Given the description of an element on the screen output the (x, y) to click on. 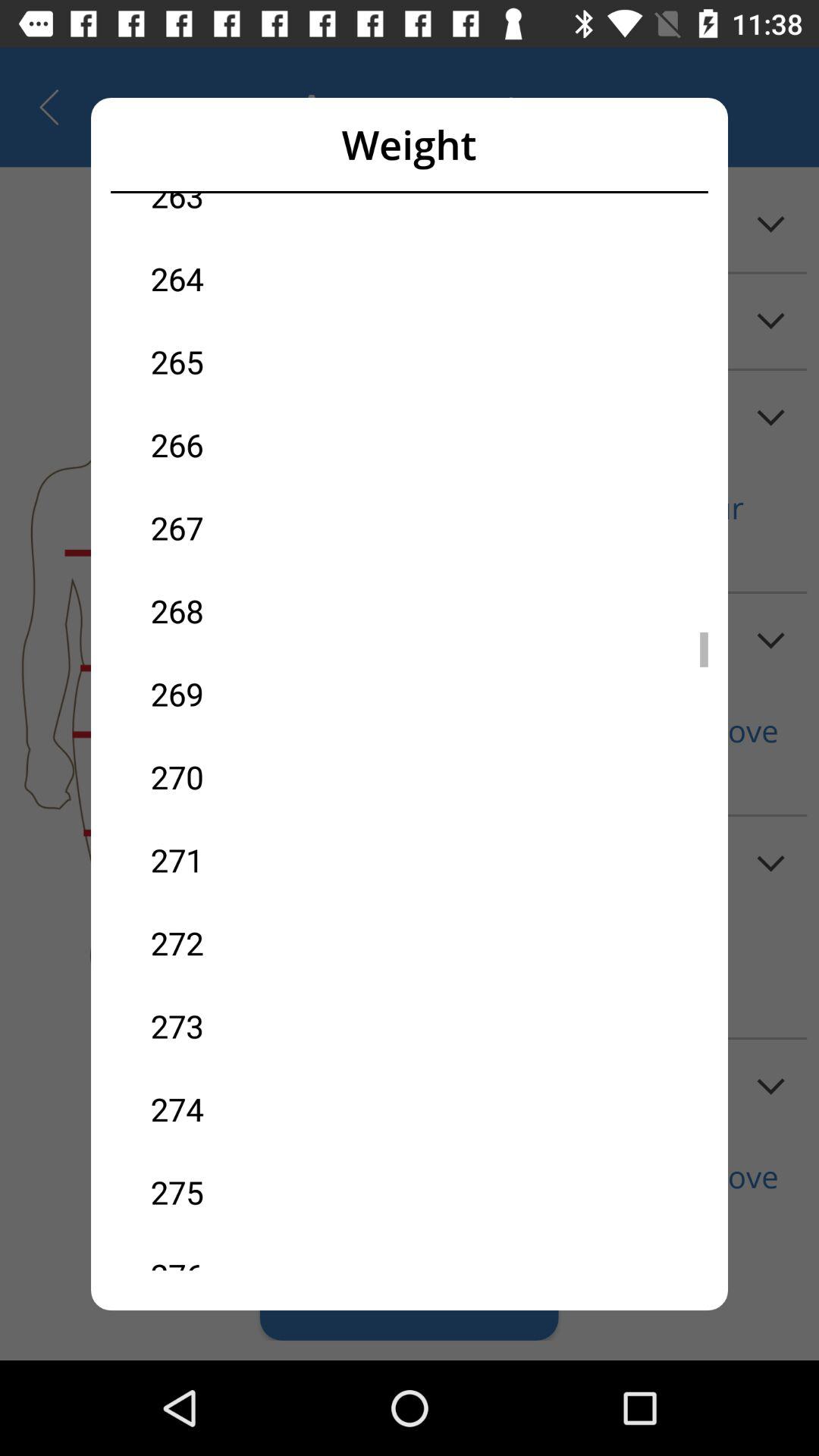
press the icon below the 269 item (279, 776)
